Given the description of an element on the screen output the (x, y) to click on. 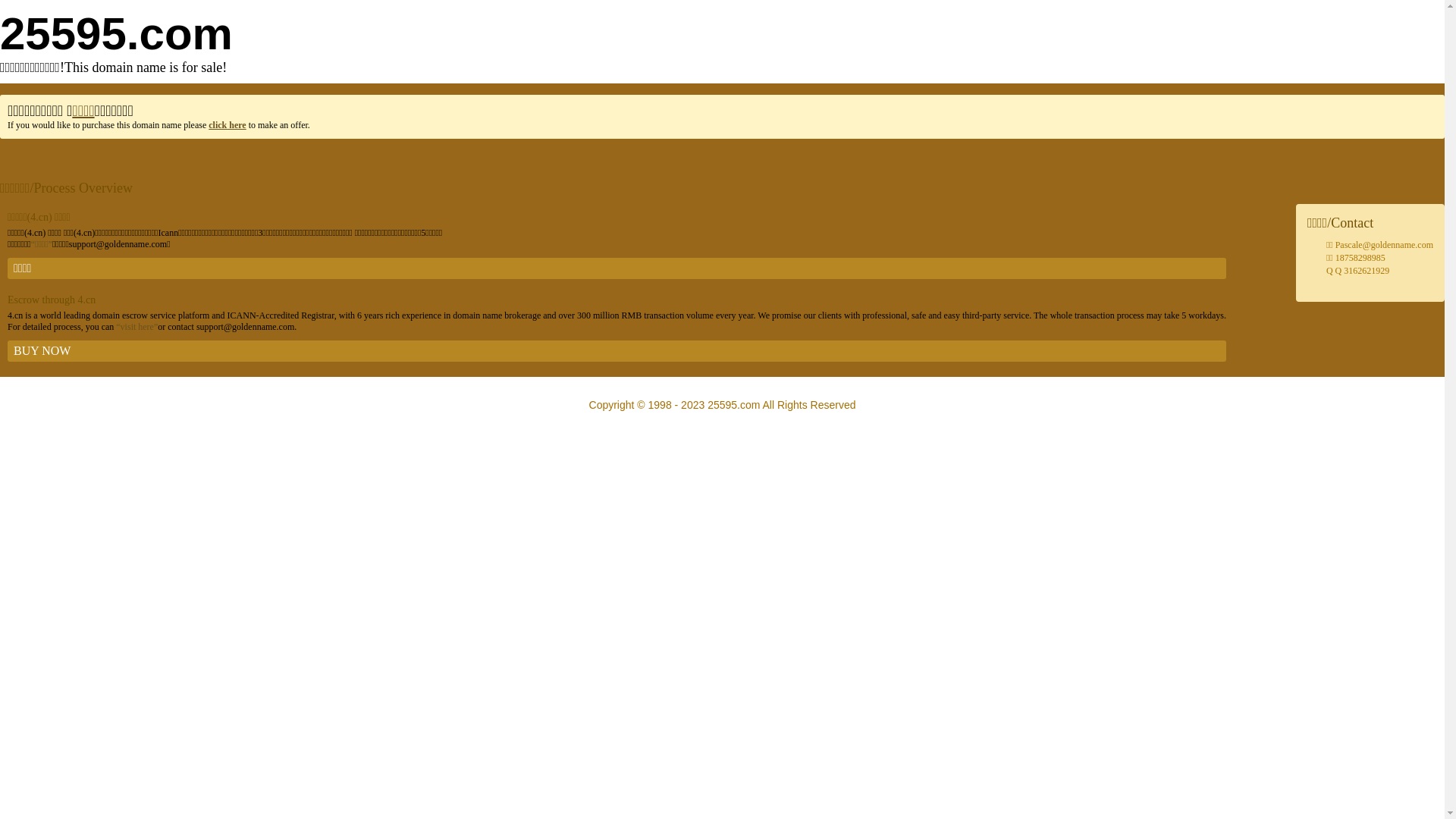
click here Element type: text (226, 124)
BUY NOW Element type: text (616, 350)
